Given the description of an element on the screen output the (x, y) to click on. 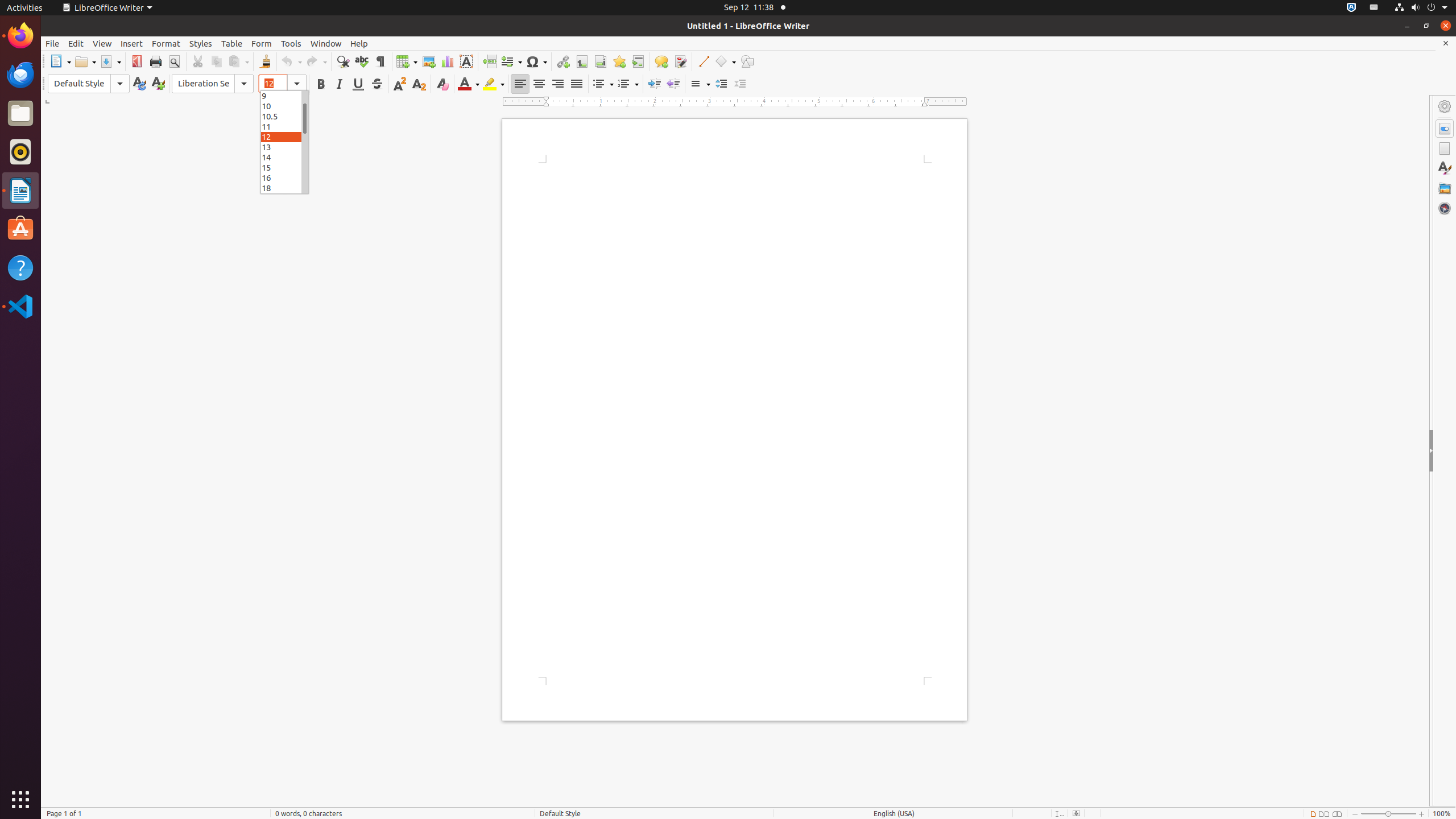
Find & Replace Element type: toggle-button (342, 61)
Hyperlink Element type: toggle-button (562, 61)
LibreOffice Writer Element type: menu (106, 7)
Properties Element type: radio-button (1444, 128)
Files Element type: push-button (20, 113)
